Given the description of an element on the screen output the (x, y) to click on. 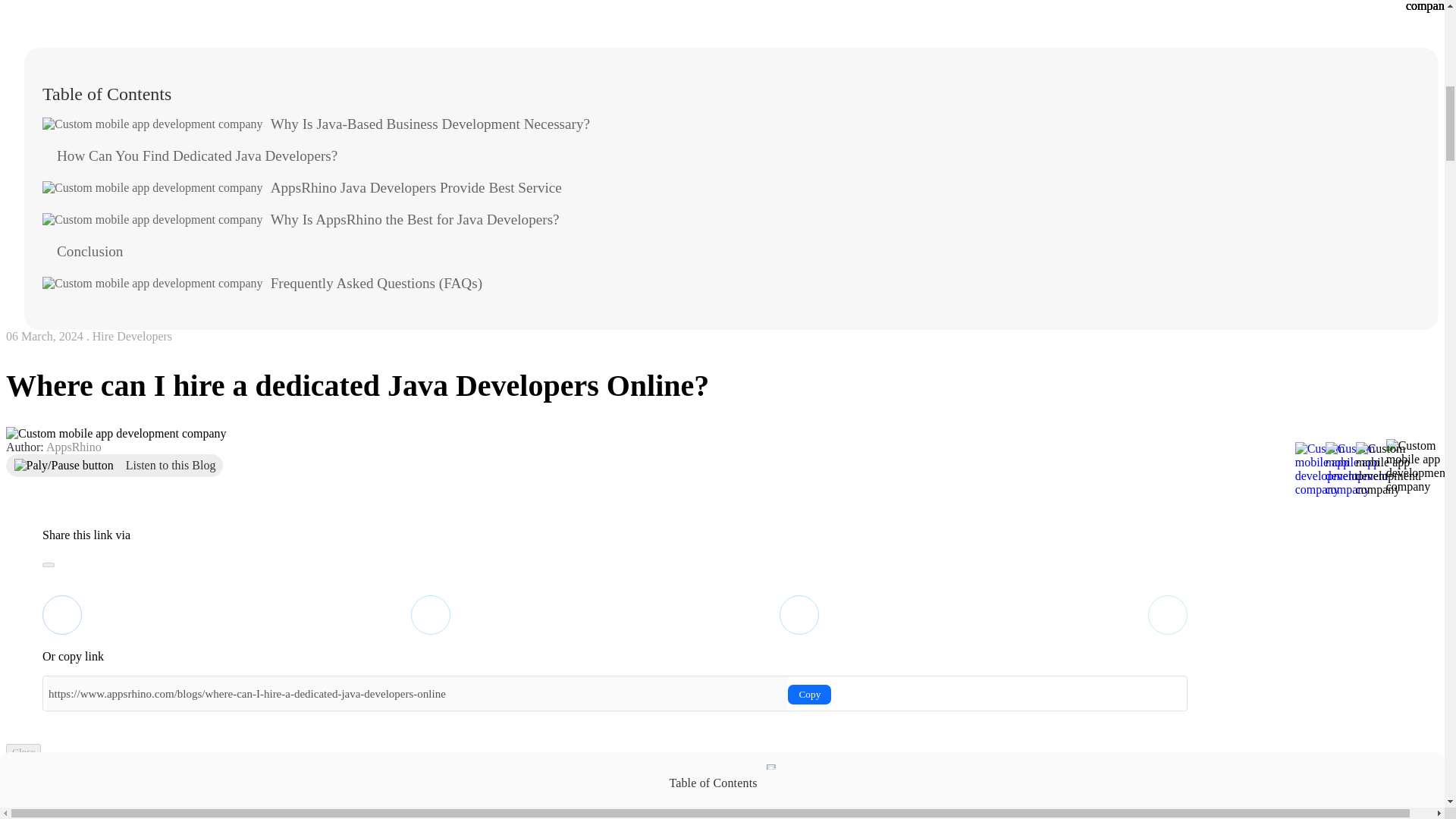
Copy (809, 694)
Share (1416, 473)
Close (22, 751)
